Given the description of an element on the screen output the (x, y) to click on. 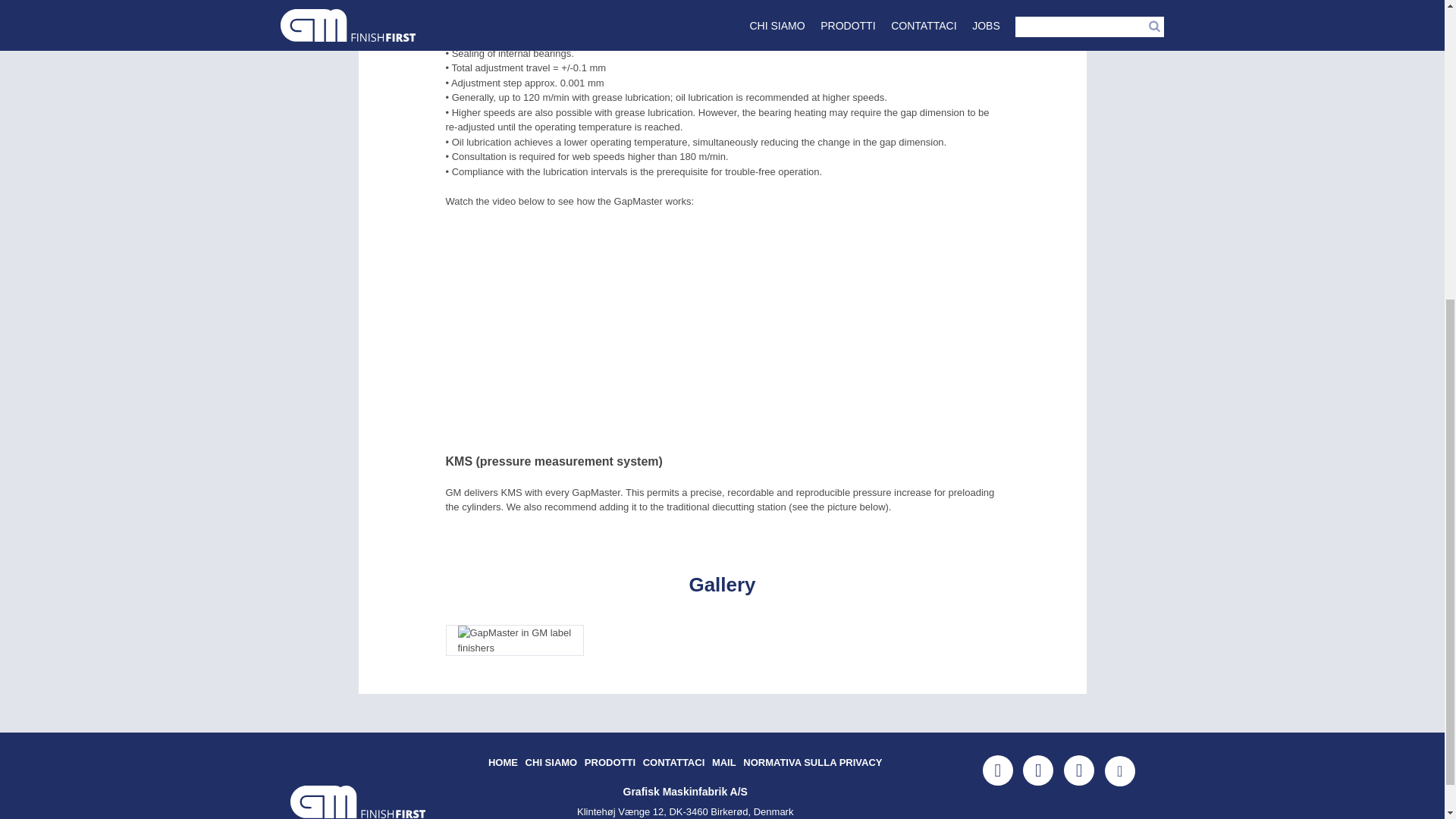
CHI SIAMO (551, 762)
GapMaster in GM label finishers (515, 640)
HOME (502, 762)
MAIL (723, 762)
CONTATTACI (673, 762)
PRODOTTI (609, 762)
NORMATIVA SULLA PRIVACY (812, 762)
